Given the description of an element on the screen output the (x, y) to click on. 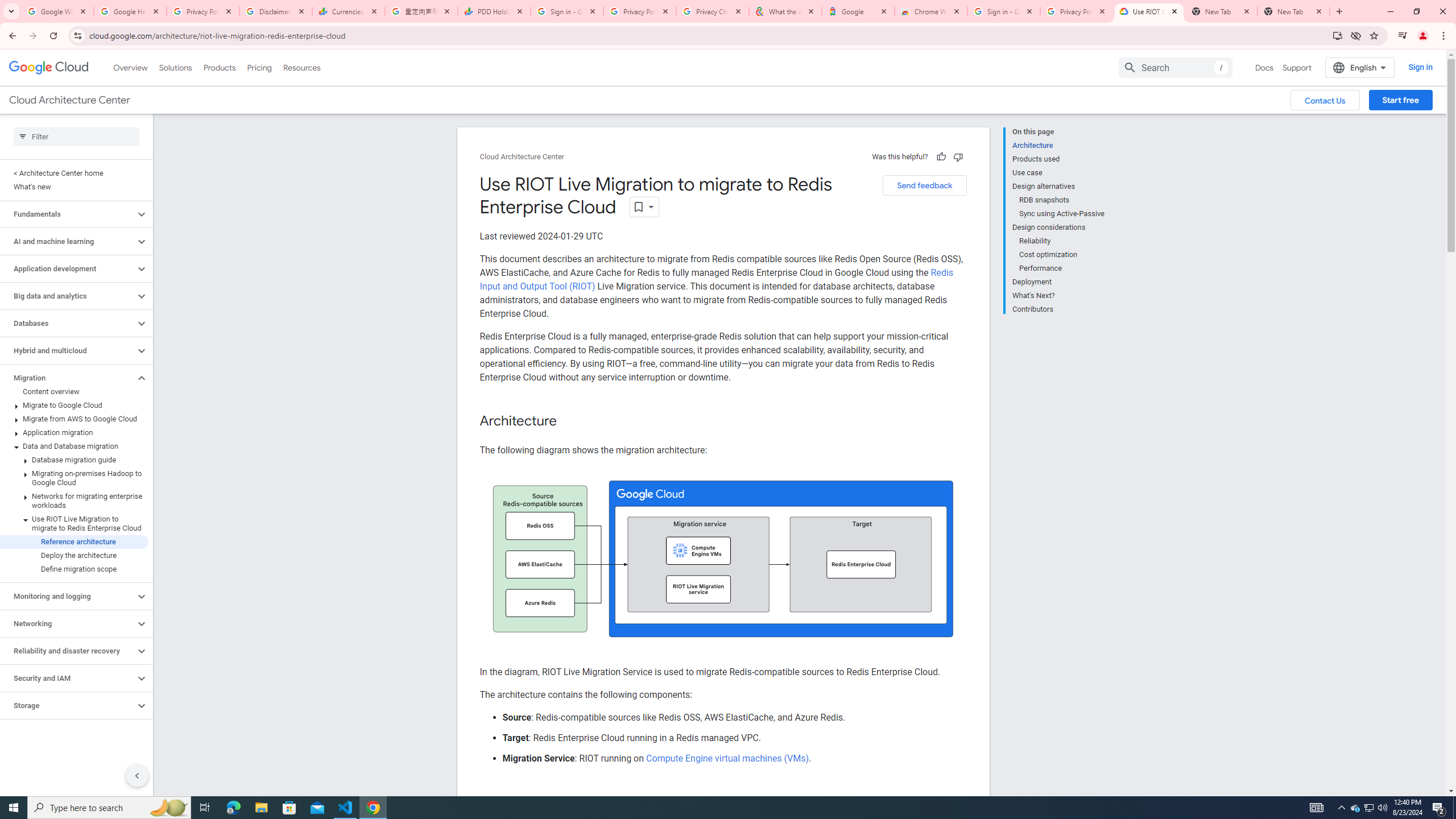
Reliability and disaster recovery (67, 650)
What's new (74, 187)
Sign in - Google Accounts (566, 11)
Use case (1058, 172)
Hybrid and multicloud (67, 350)
Not helpful (957, 156)
Application development (67, 269)
Cloud Architecture Center (521, 156)
Content overview (74, 391)
